Given the description of an element on the screen output the (x, y) to click on. 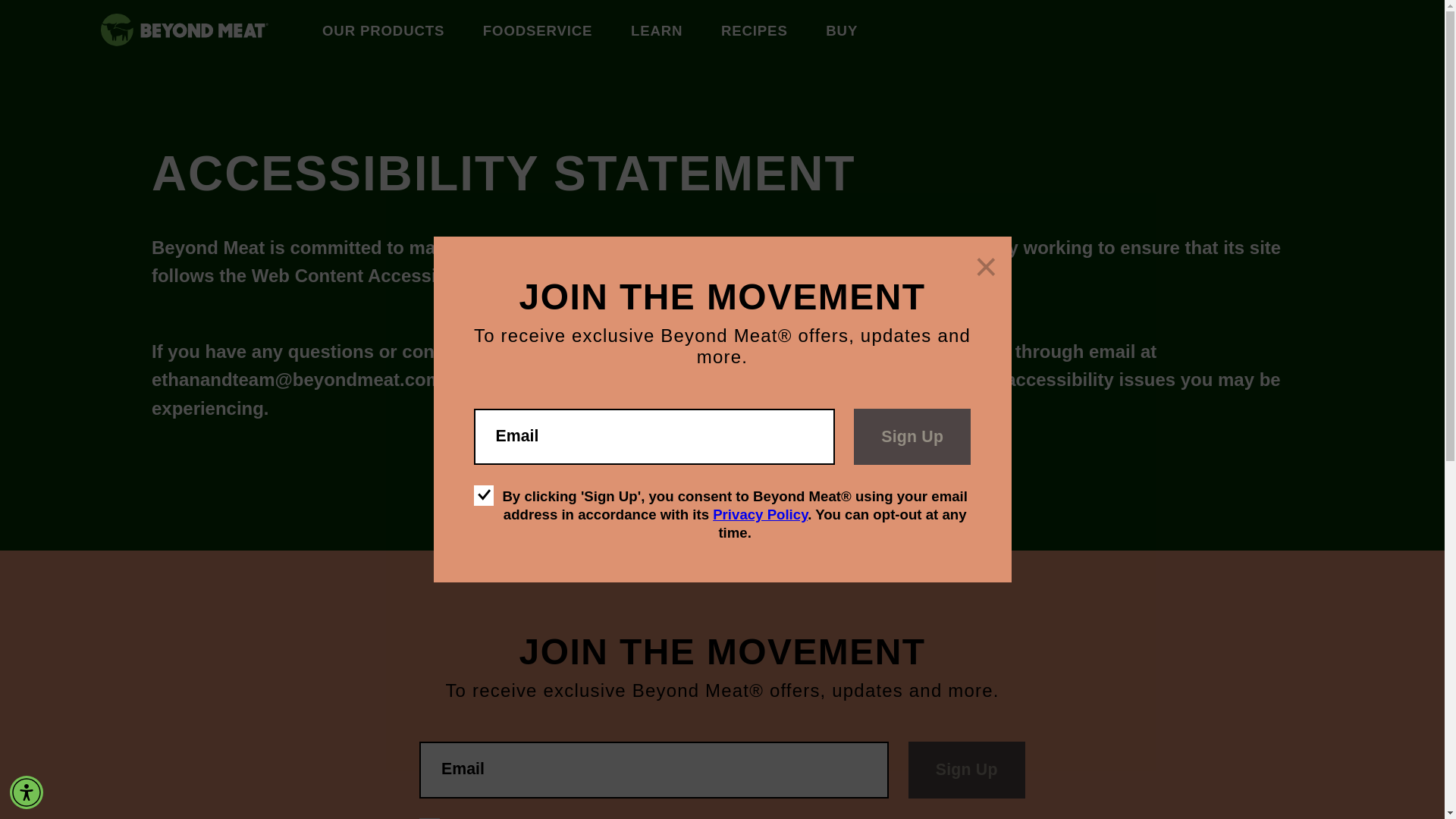
LEARN (656, 32)
Beyond Meat Logo (204, 30)
Beyond Meat Logo (116, 29)
Accessibility Menu (26, 792)
FOODSERVICE (537, 32)
on (484, 495)
Beyond Meat Logo (200, 32)
RECIPES (753, 32)
OUR PRODUCTS (382, 32)
BUY (841, 32)
